Given the description of an element on the screen output the (x, y) to click on. 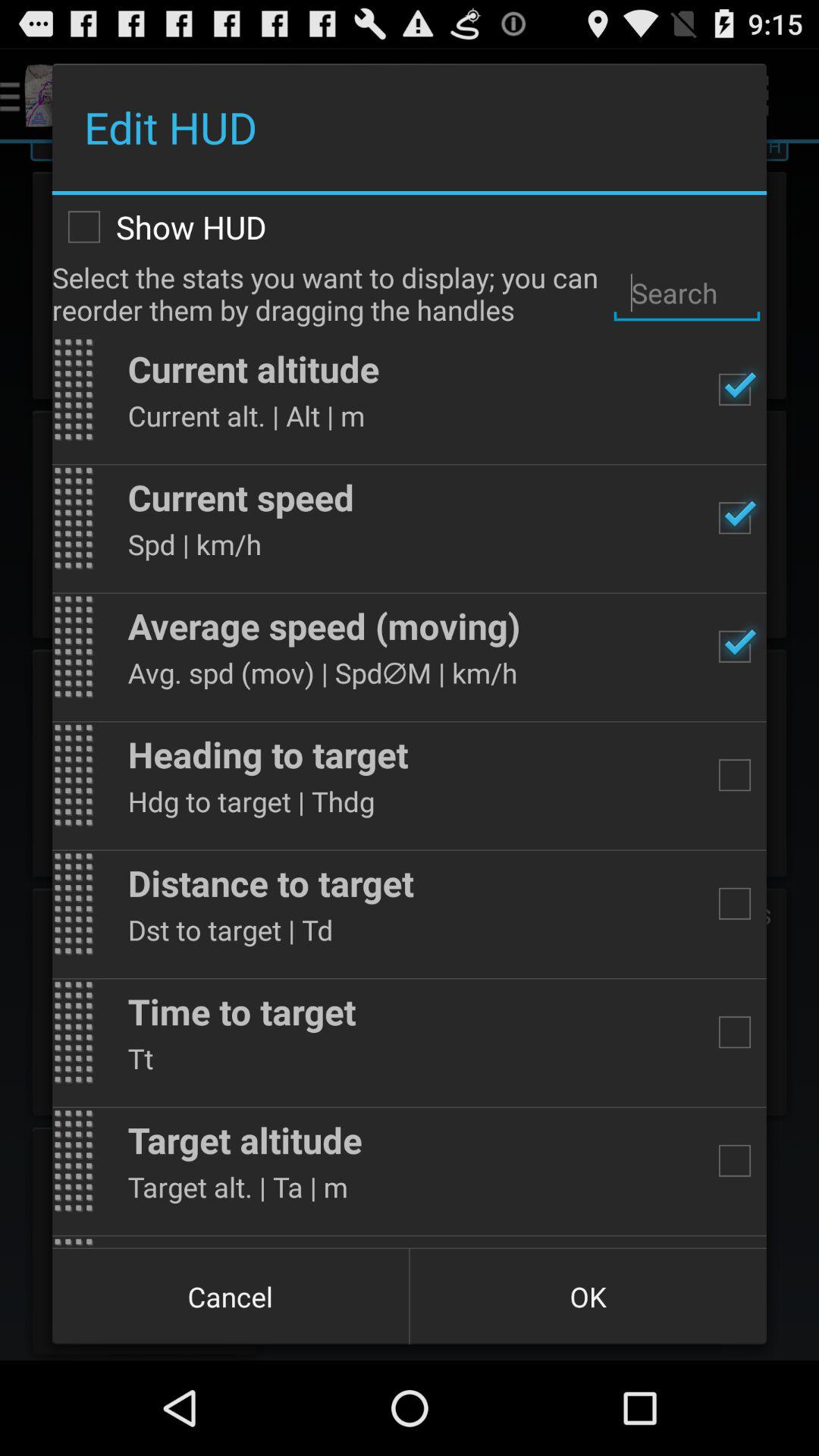
swipe to cancel icon (230, 1296)
